Given the description of an element on the screen output the (x, y) to click on. 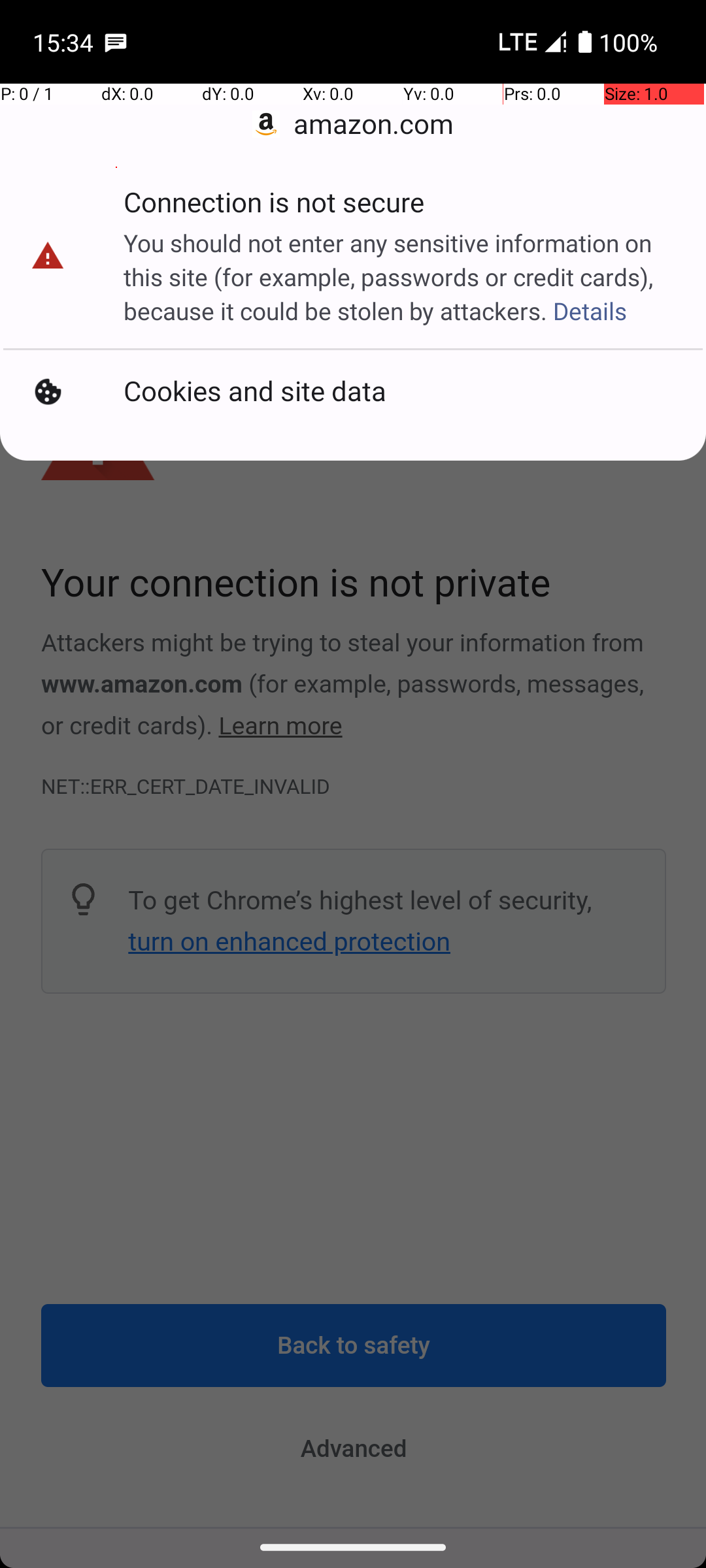
amazon.com Element type: android.widget.TextView (352, 124)
